Given the description of an element on the screen output the (x, y) to click on. 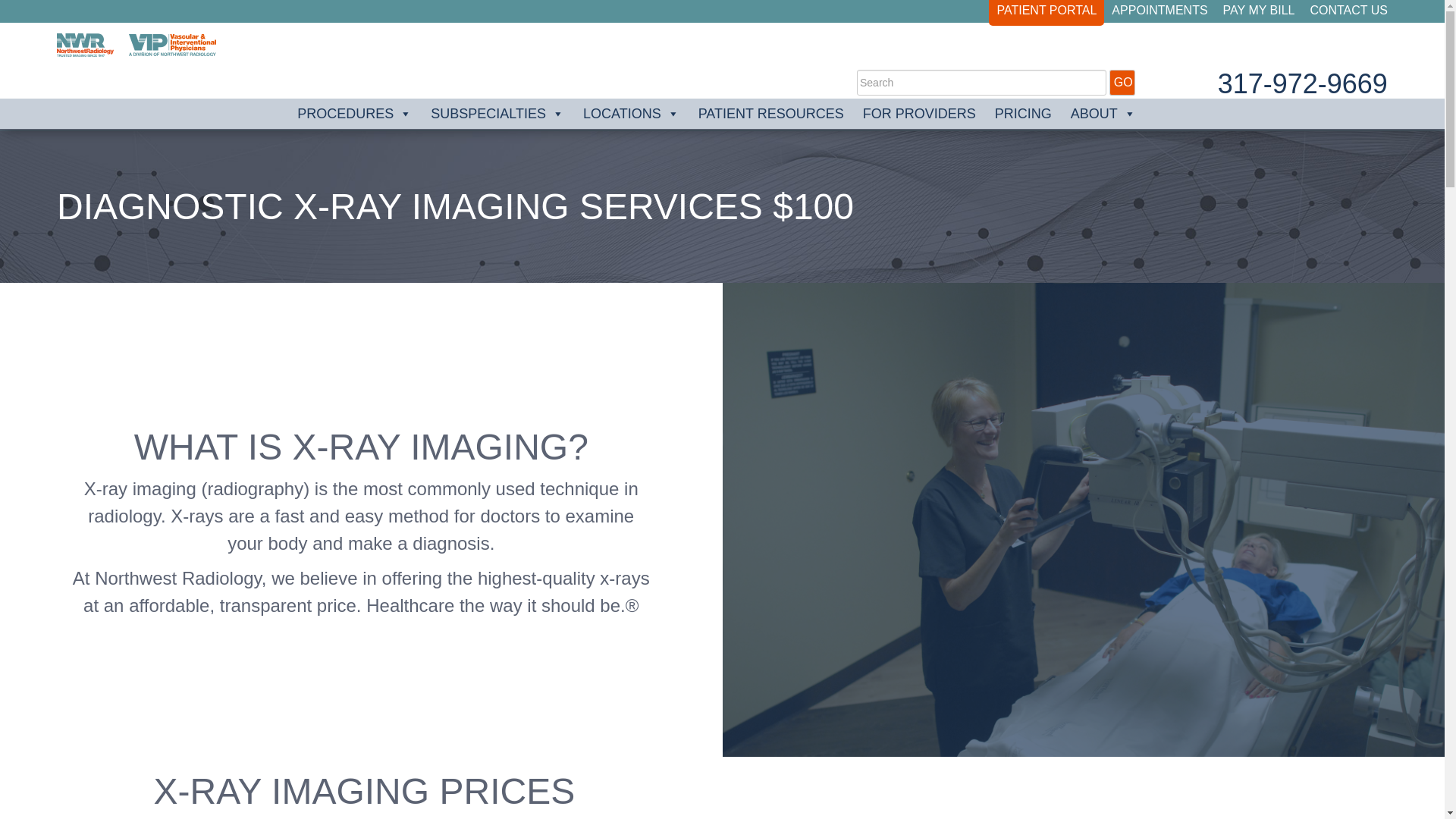
GO (1122, 82)
317-972-9669 (1302, 83)
GO (1122, 82)
CONTACT US (1347, 10)
PATIENT PORTAL (1045, 10)
PROCEDURES (356, 113)
PAY MY BILL (1259, 10)
APPOINTMENTS (1159, 10)
